Given the description of an element on the screen output the (x, y) to click on. 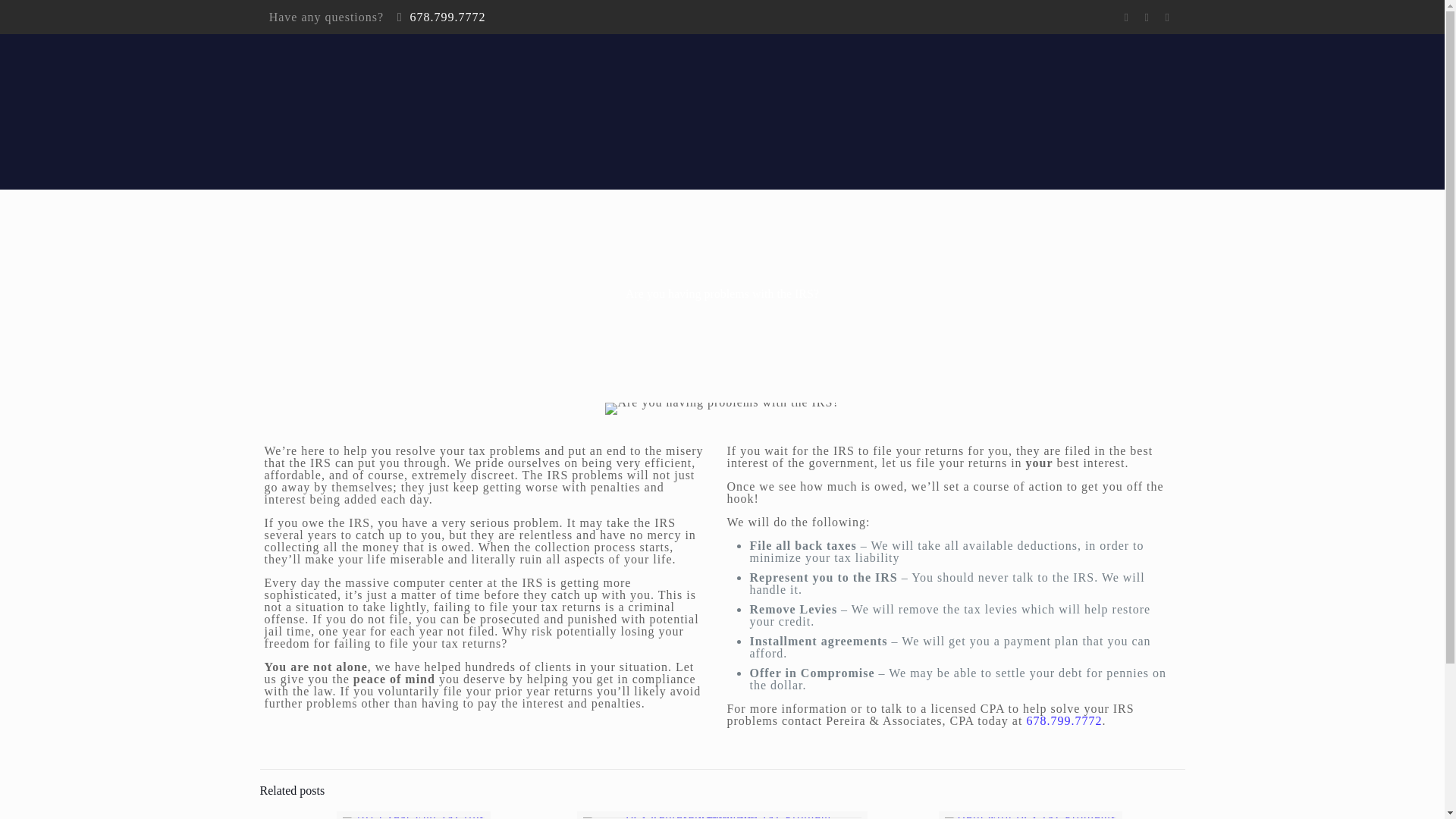
Yelp (1166, 17)
678.799.7772 (1064, 720)
Facebook (1126, 17)
678.799.7772 (446, 16)
LinkedIn (1146, 17)
